Given the description of an element on the screen output the (x, y) to click on. 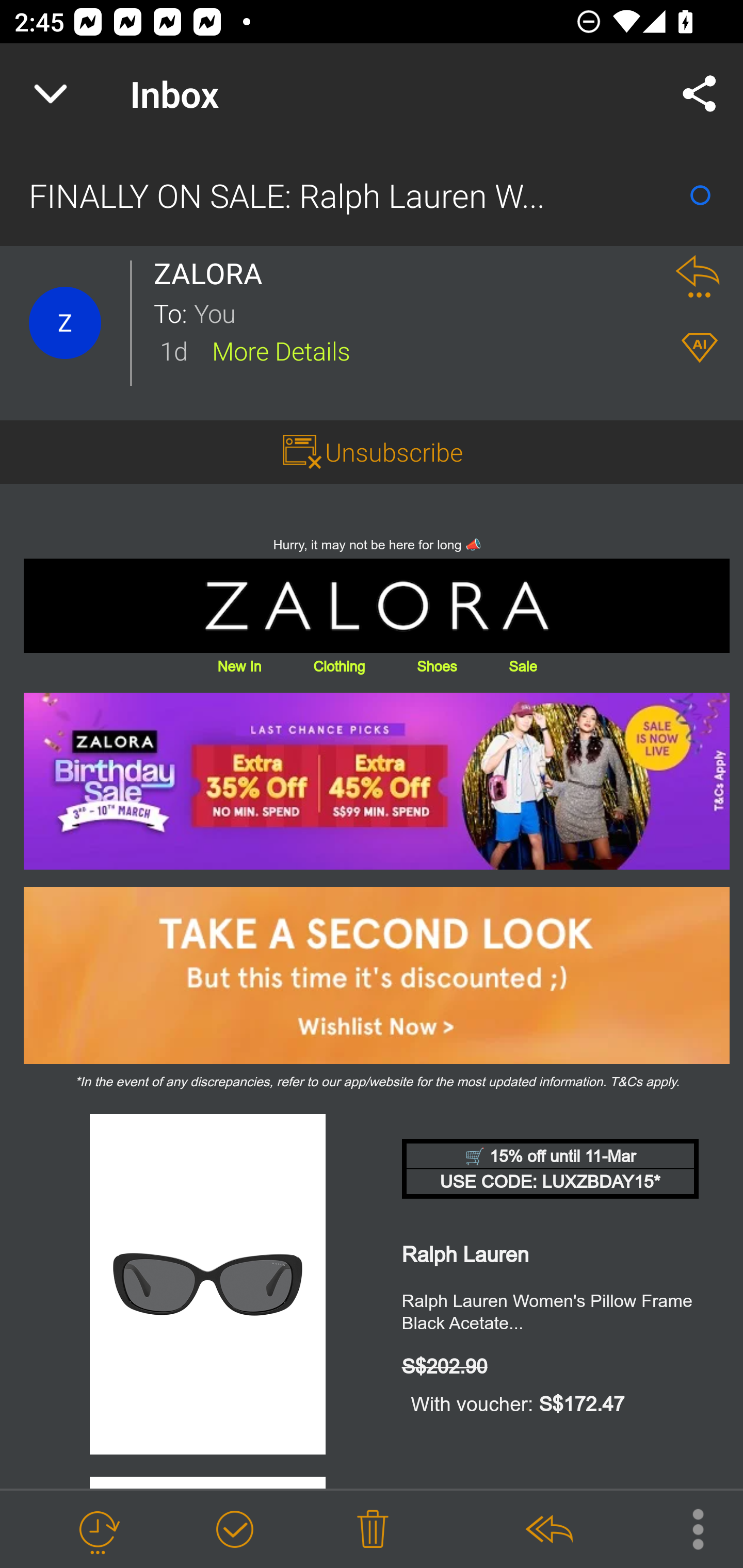
Navigate up (50, 93)
Share (699, 93)
Mark as Read (699, 194)
ZALORA (213, 273)
Contact Details (64, 322)
More Details (280, 349)
Unsubscribe (393, 451)
ZALORA (377, 605)
New In (238, 665)
Clothing (339, 665)
Shoes (436, 665)
Sale (522, 665)
click?upn=u001 (377, 780)
More Options (687, 1528)
Snooze (97, 1529)
Mark as Done (234, 1529)
Delete (372, 1529)
Reply All (548, 1529)
